Given the description of an element on the screen output the (x, y) to click on. 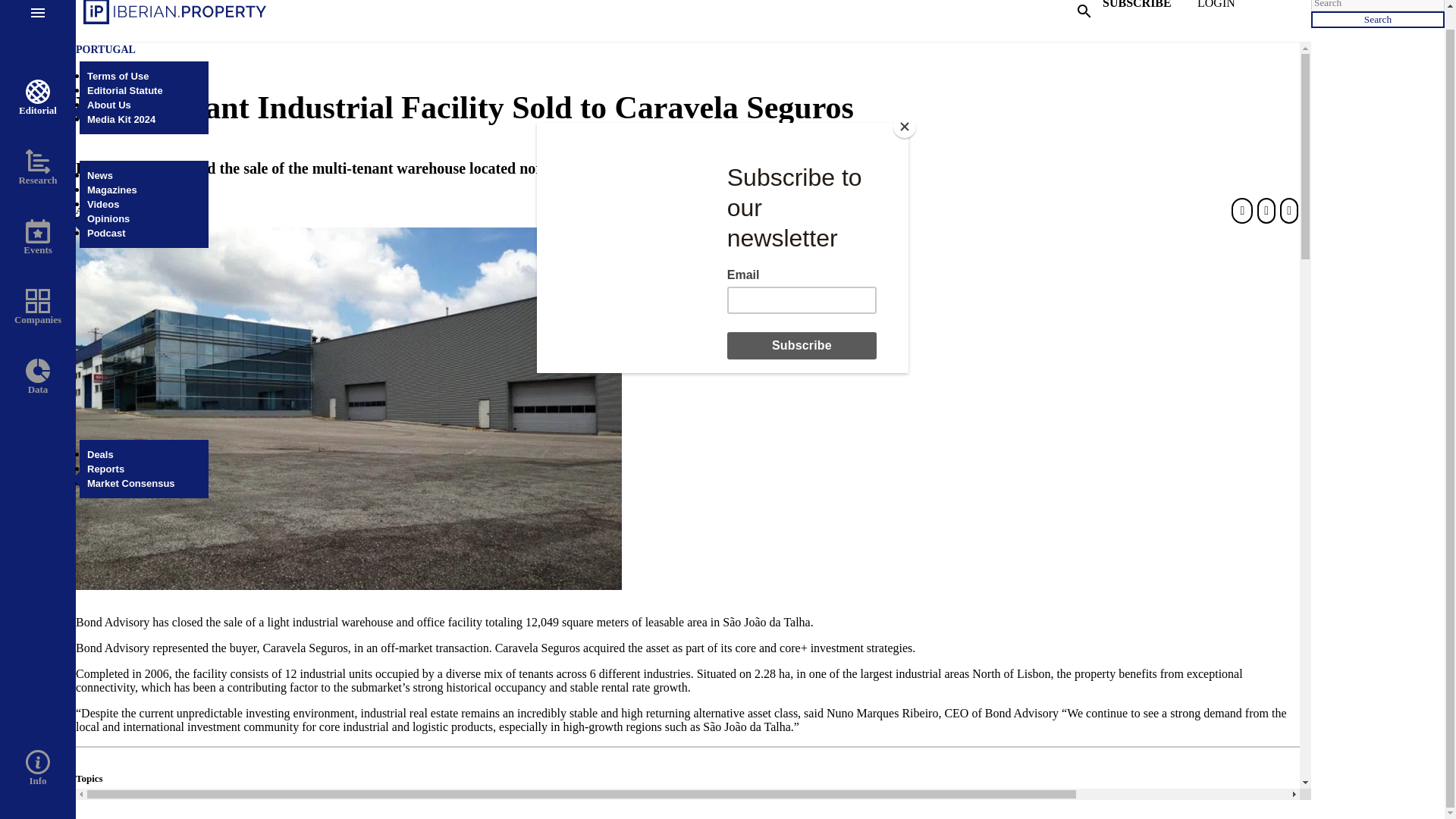
Deals (100, 454)
Editorial (37, 97)
Data (37, 377)
About Us (109, 104)
Podcast (106, 233)
Videos (103, 204)
LOGIN (1242, 11)
Editorial Statute (125, 90)
Terms of Use (117, 75)
Companies (37, 307)
Magazines (111, 189)
Info (37, 768)
Media Kit 2024 (121, 119)
Market Consensus (130, 482)
Events (37, 237)
